Given the description of an element on the screen output the (x, y) to click on. 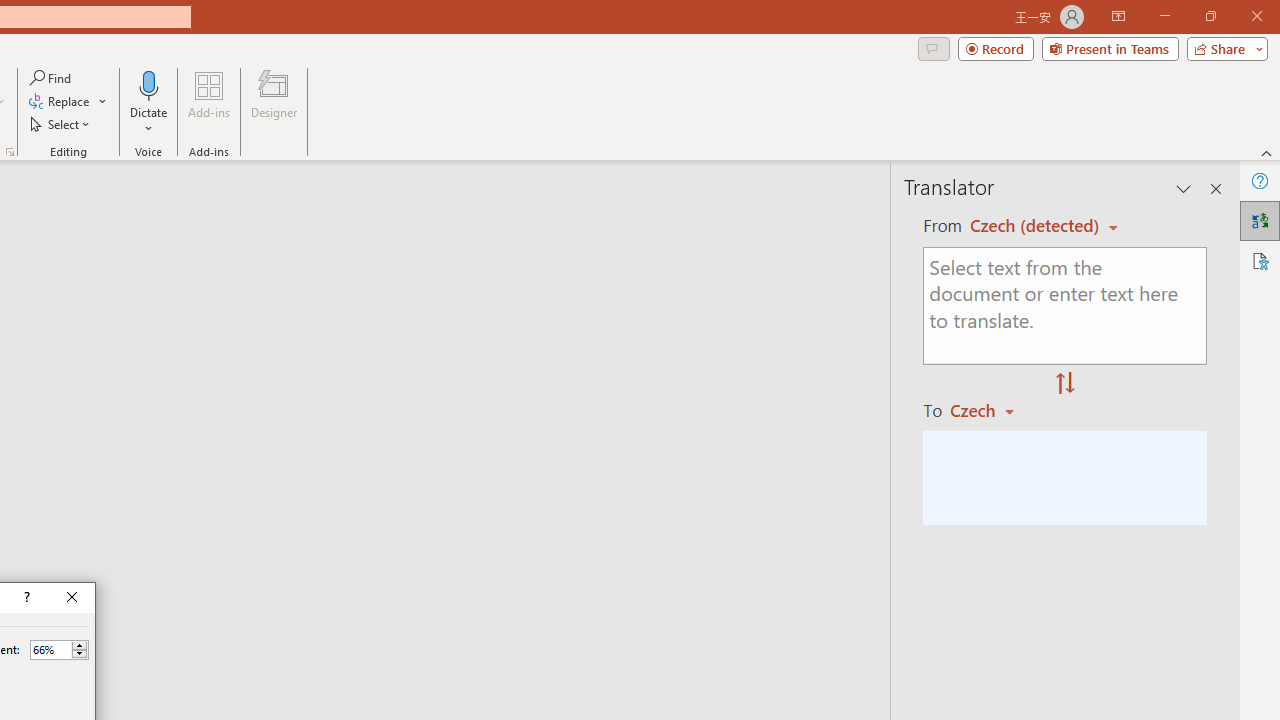
Czech (detected) (1037, 225)
Percent (59, 650)
